Given the description of an element on the screen output the (x, y) to click on. 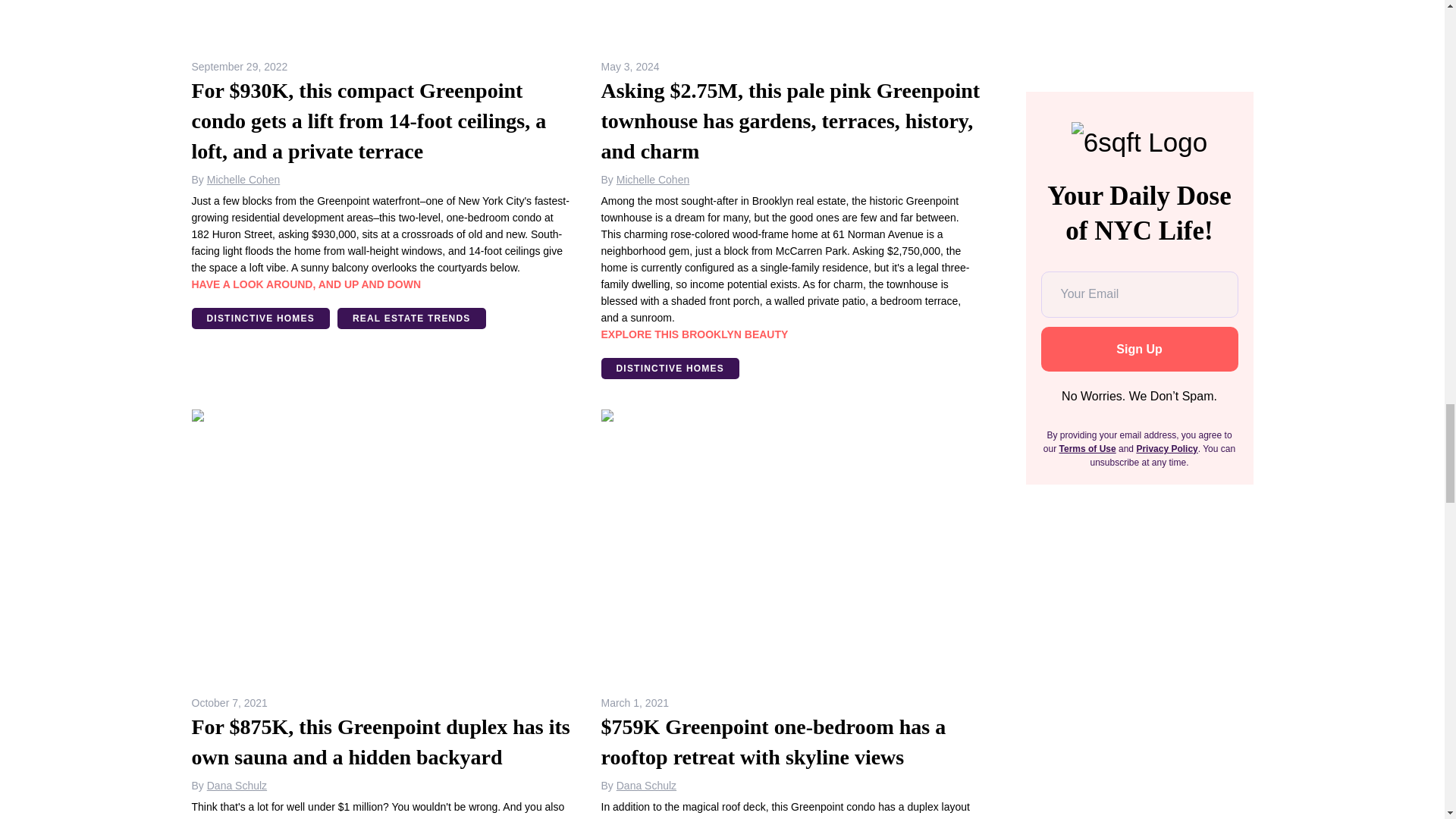
Posts by Dana Schulz (646, 785)
Posts by Dana Schulz (236, 785)
Posts by Michelle Cohen (652, 179)
Posts by Michelle Cohen (243, 179)
